Given the description of an element on the screen output the (x, y) to click on. 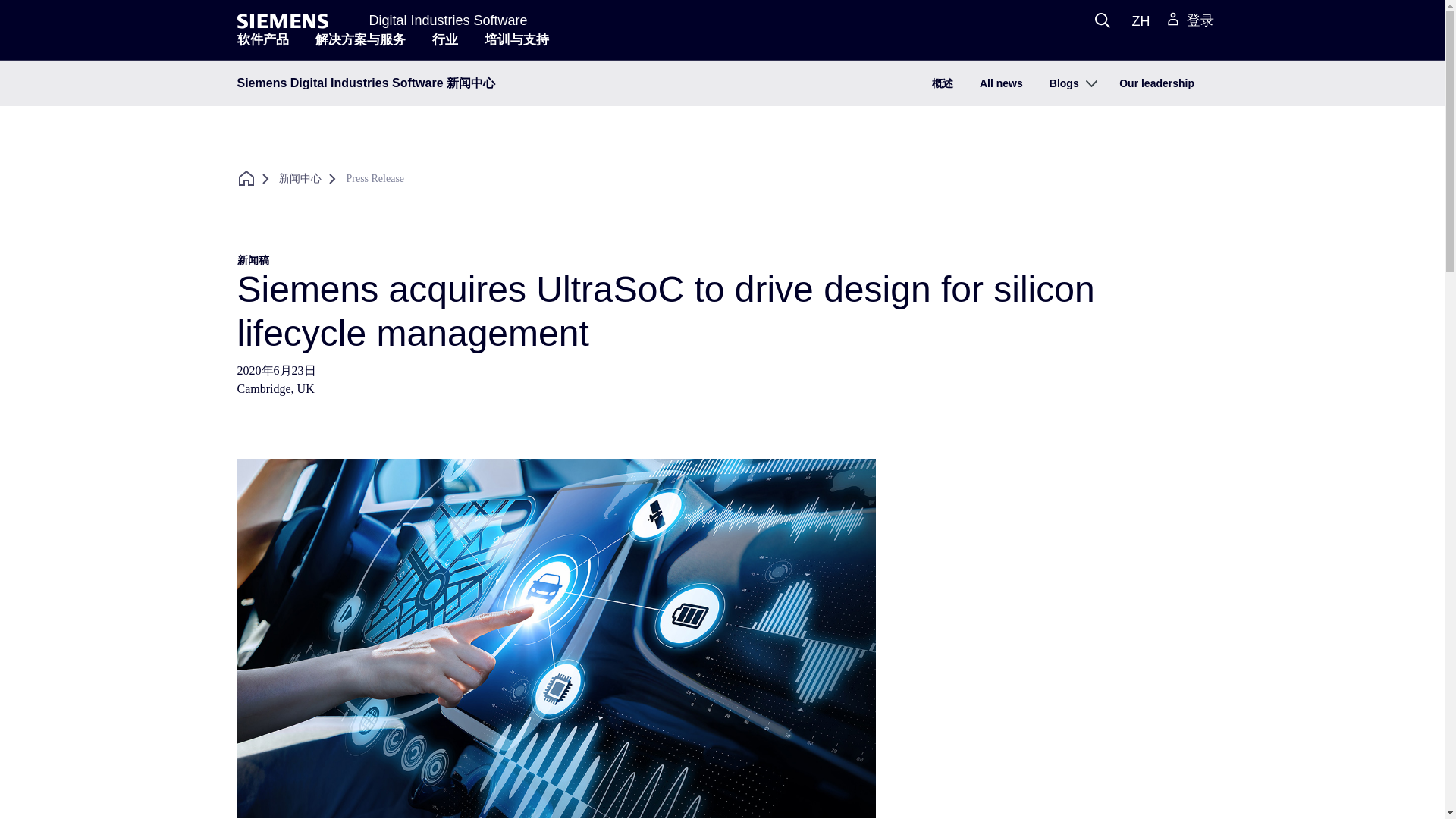
Siemens (281, 20)
search (1101, 20)
Digital Industries Software (447, 20)
